Given the description of an element on the screen output the (x, y) to click on. 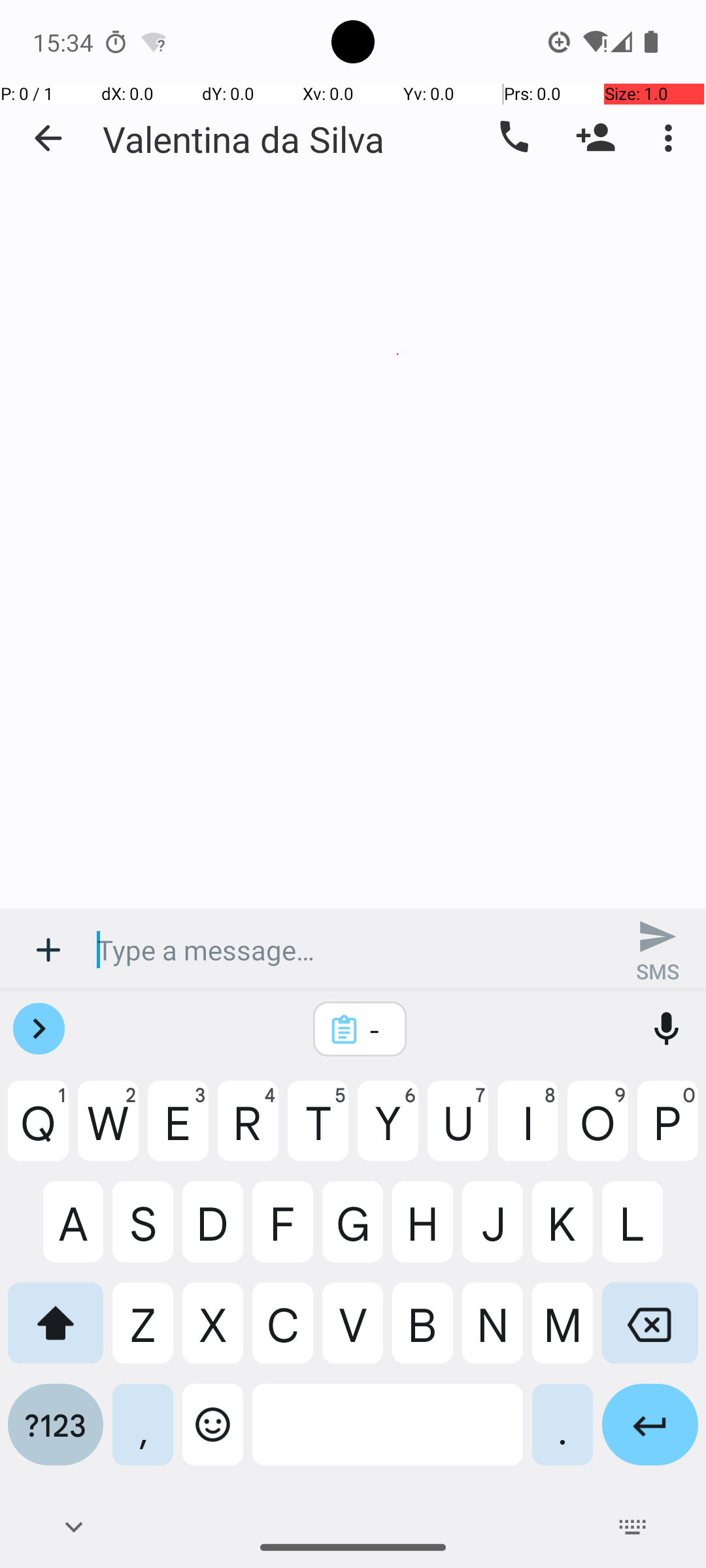
Valentina da Silva Element type: android.widget.TextView (243, 138)
